Given the description of an element on the screen output the (x, y) to click on. 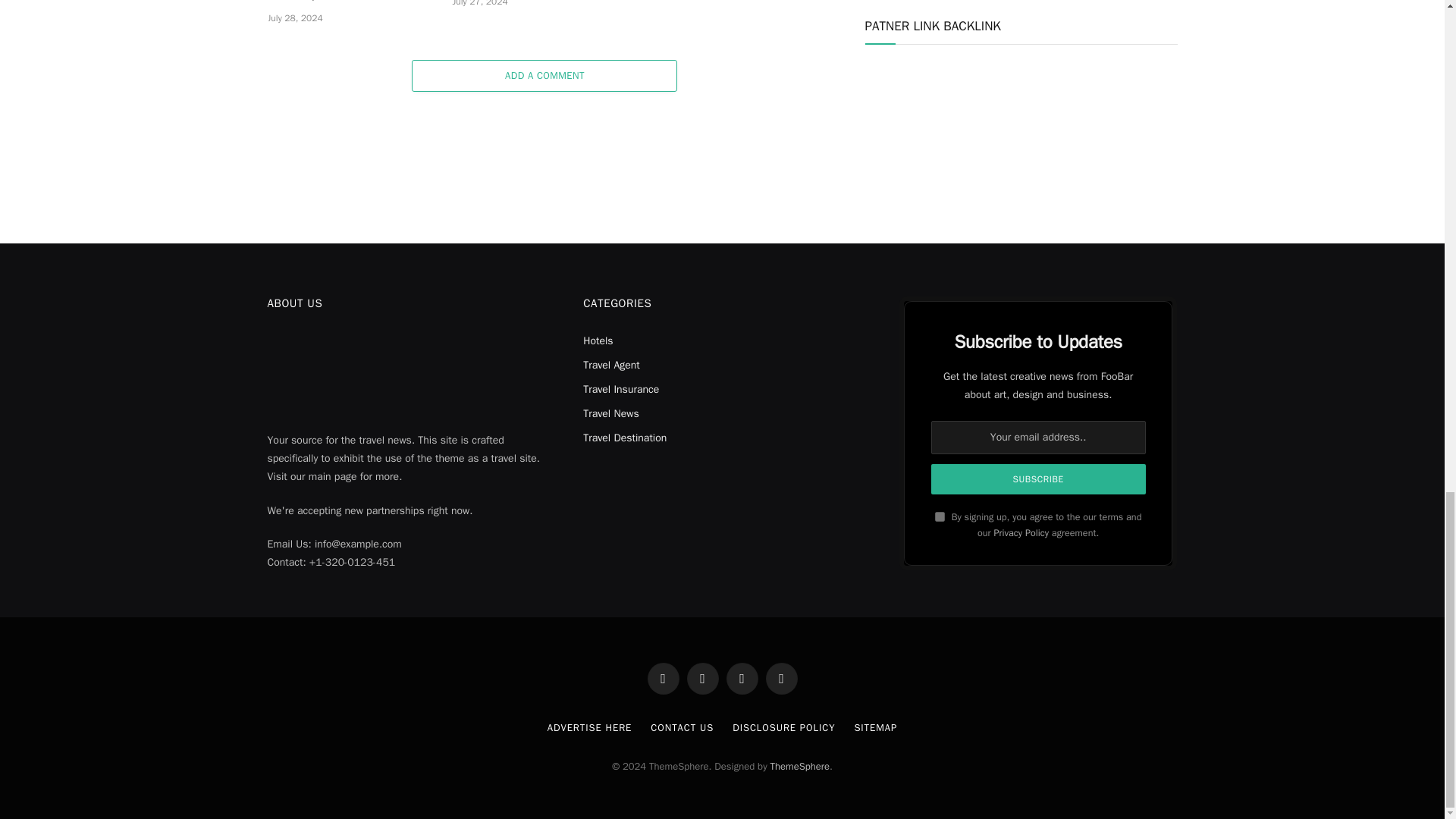
on (939, 516)
Subscribe (1038, 479)
